Given the description of an element on the screen output the (x, y) to click on. 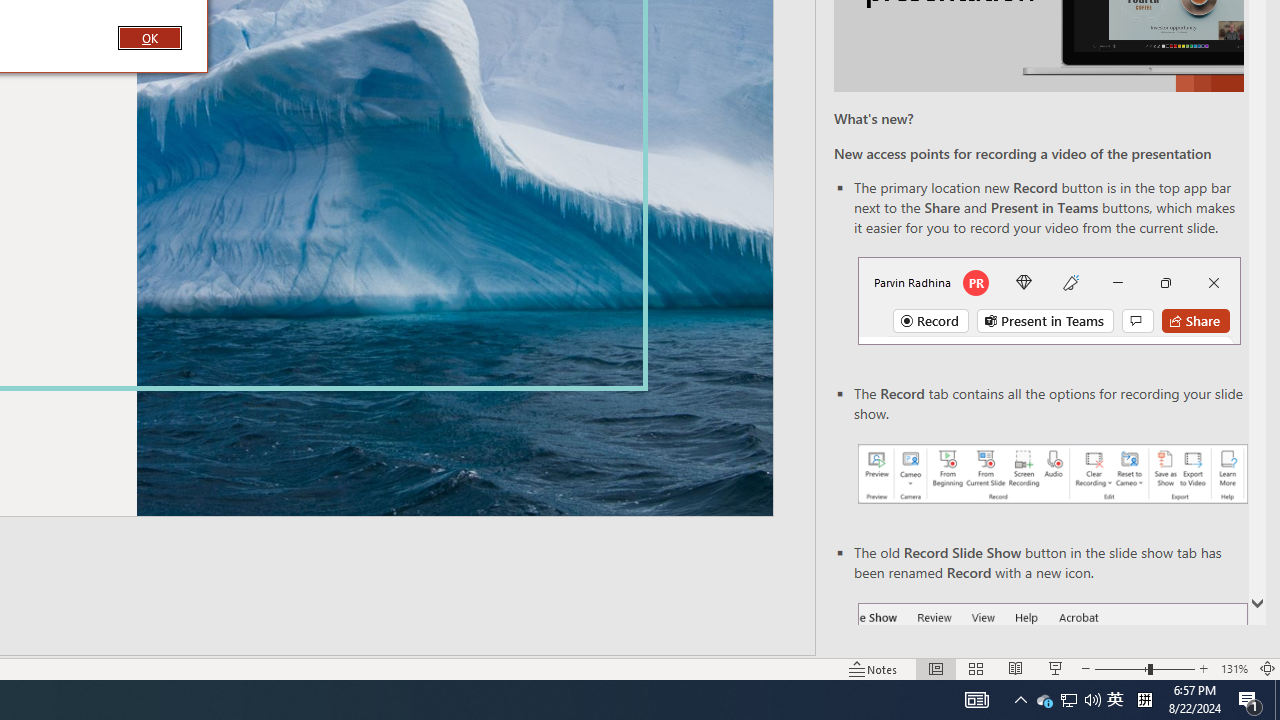
Zoom 131% (1234, 668)
Action Center, 1 new notification (1044, 699)
OK (1250, 699)
AutomationID: 4105 (149, 37)
Q2790: 100% (976, 699)
Notes  (1115, 699)
